Given the description of an element on the screen output the (x, y) to click on. 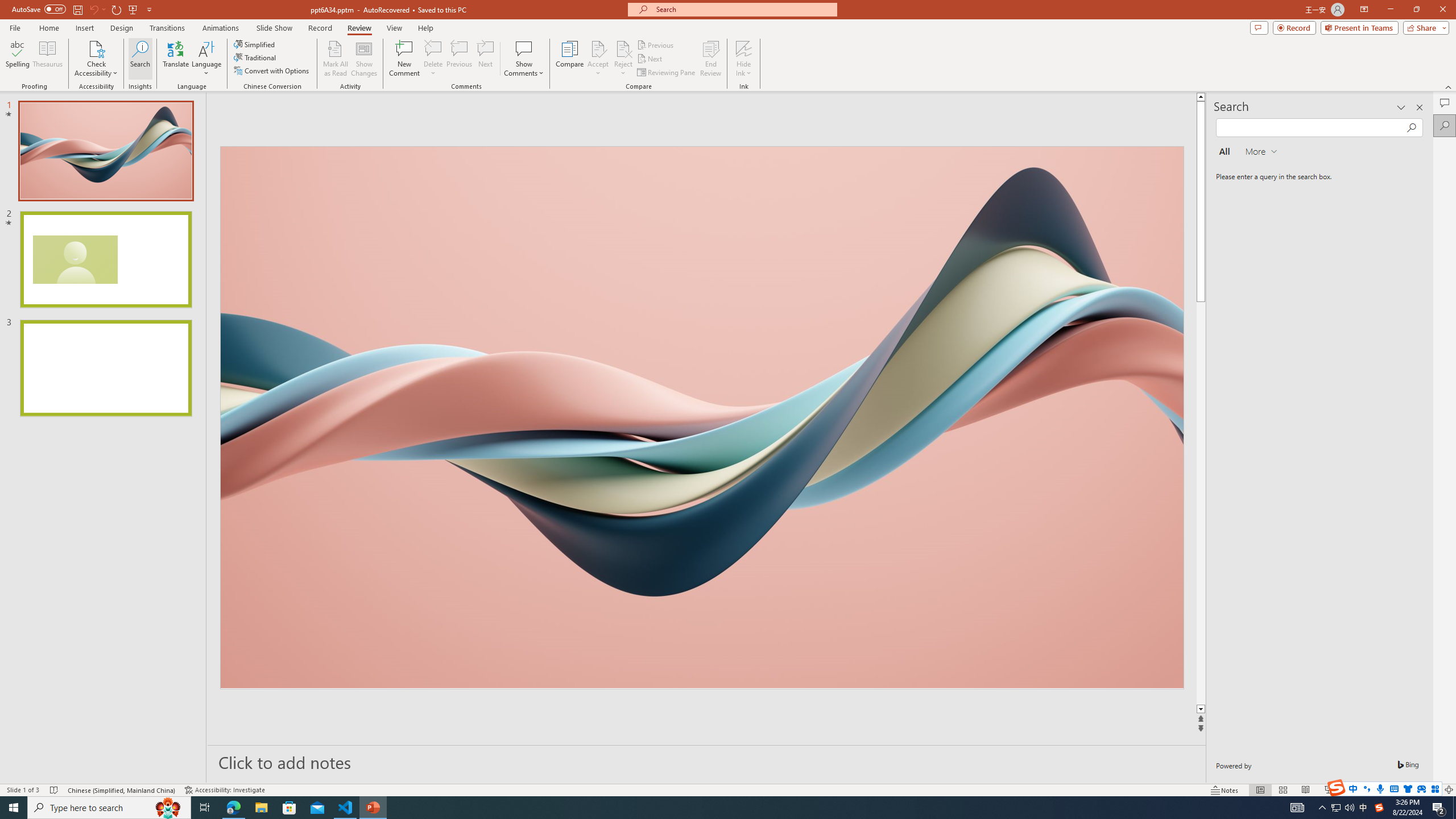
Show Comments (524, 48)
Accept (598, 58)
